Given the description of an element on the screen output the (x, y) to click on. 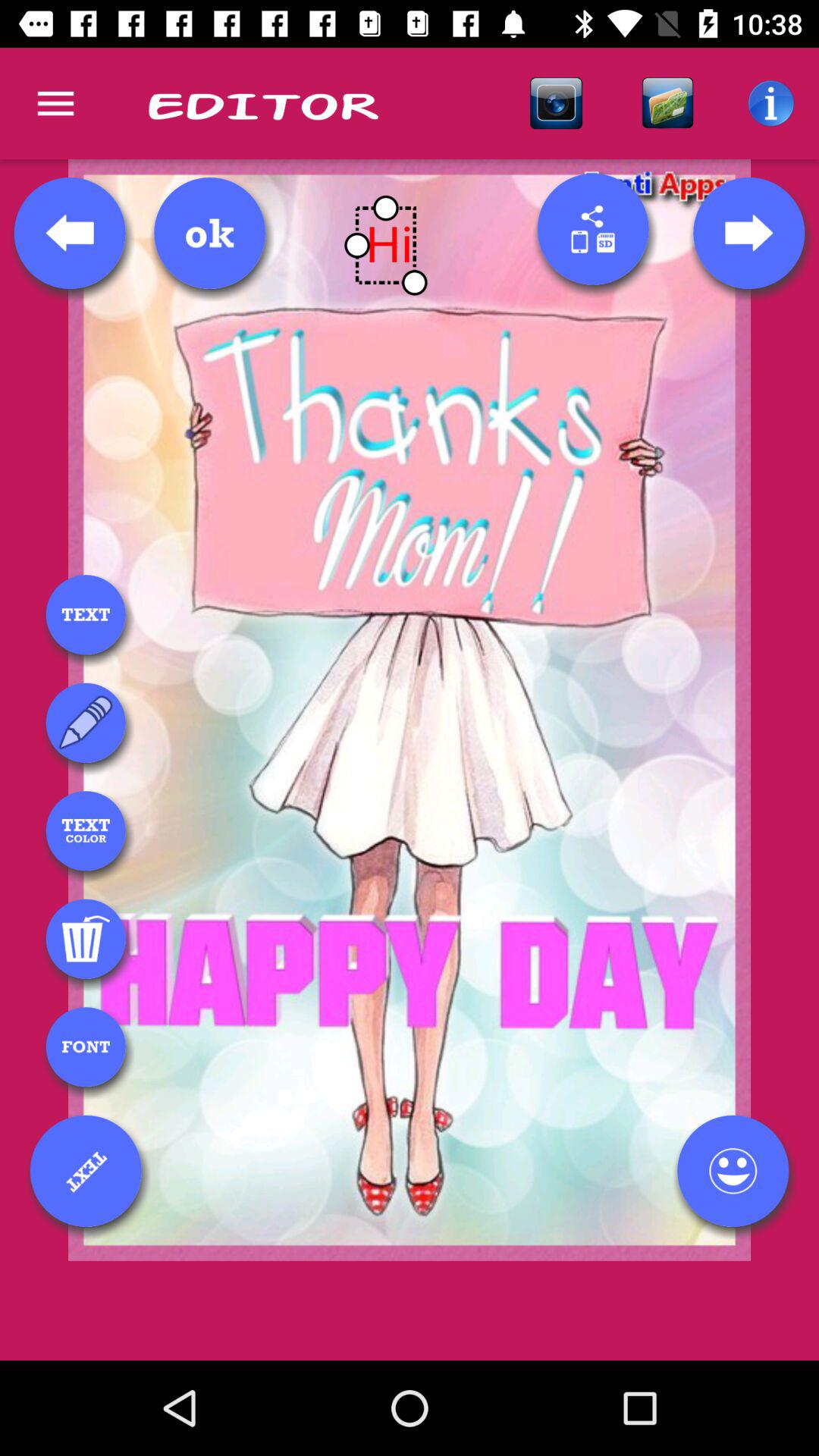
next page (749, 233)
